Given the description of an element on the screen output the (x, y) to click on. 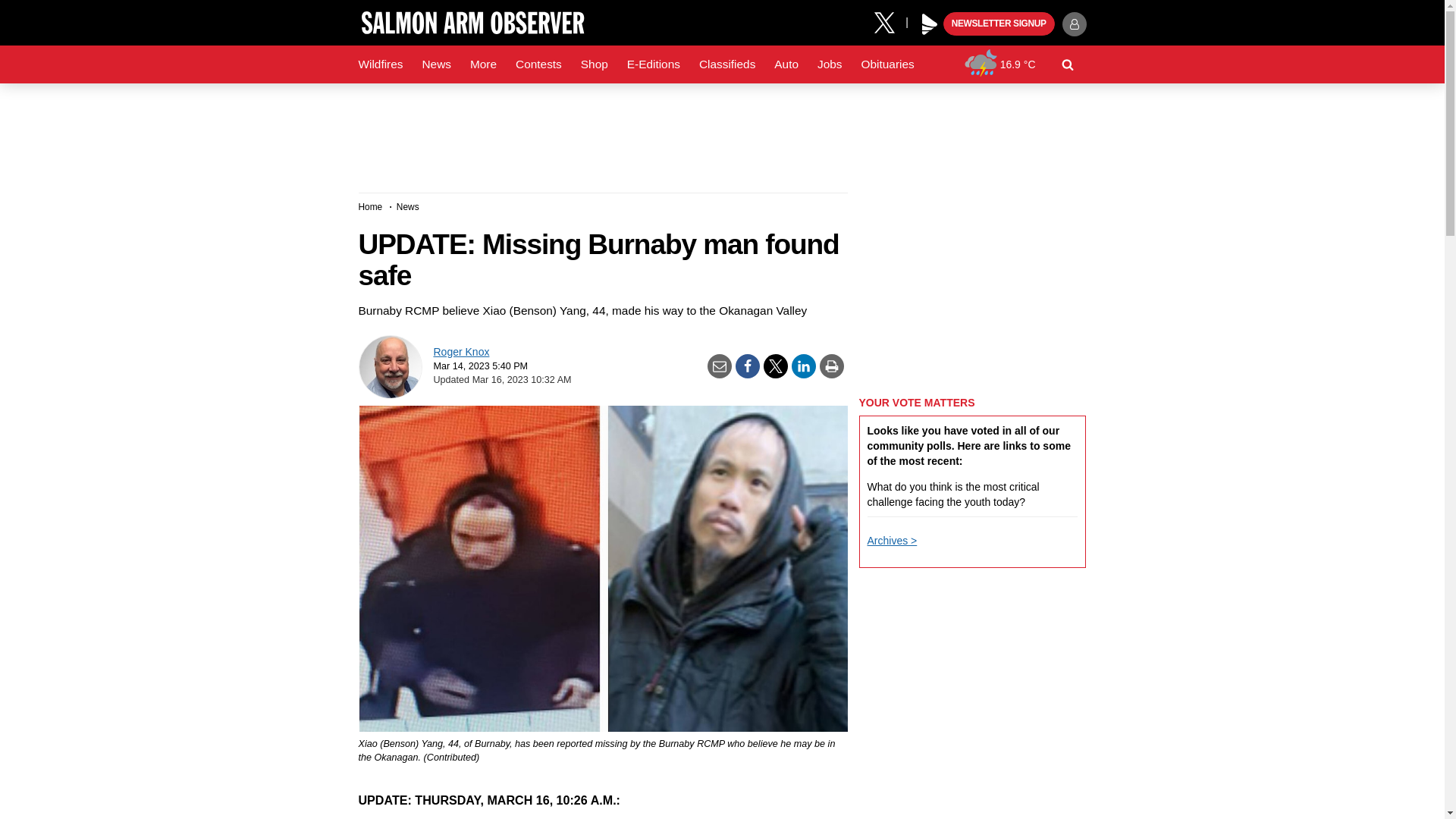
X (889, 21)
Play (929, 24)
Black Press Media (929, 24)
NEWSLETTER SIGNUP (998, 24)
News (435, 64)
Wildfires (380, 64)
